Given the description of an element on the screen output the (x, y) to click on. 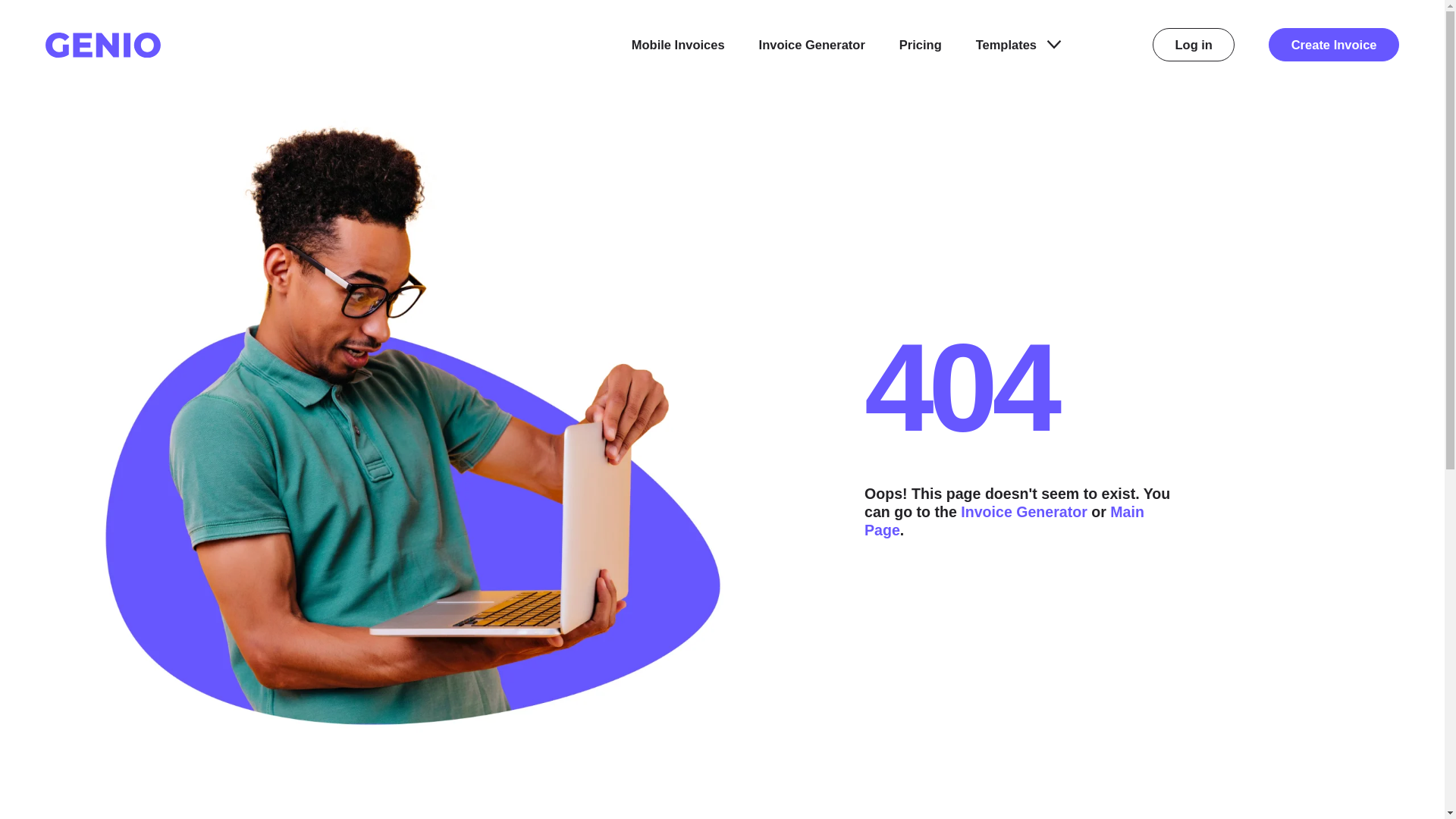
Create Invoice (1333, 44)
Invoice Generator (1023, 511)
Main Page (1004, 520)
Templates (1018, 44)
Pricing (920, 44)
Log in (1193, 44)
Invoice Generator (811, 44)
Mobile Invoices (678, 44)
